Given the description of an element on the screen output the (x, y) to click on. 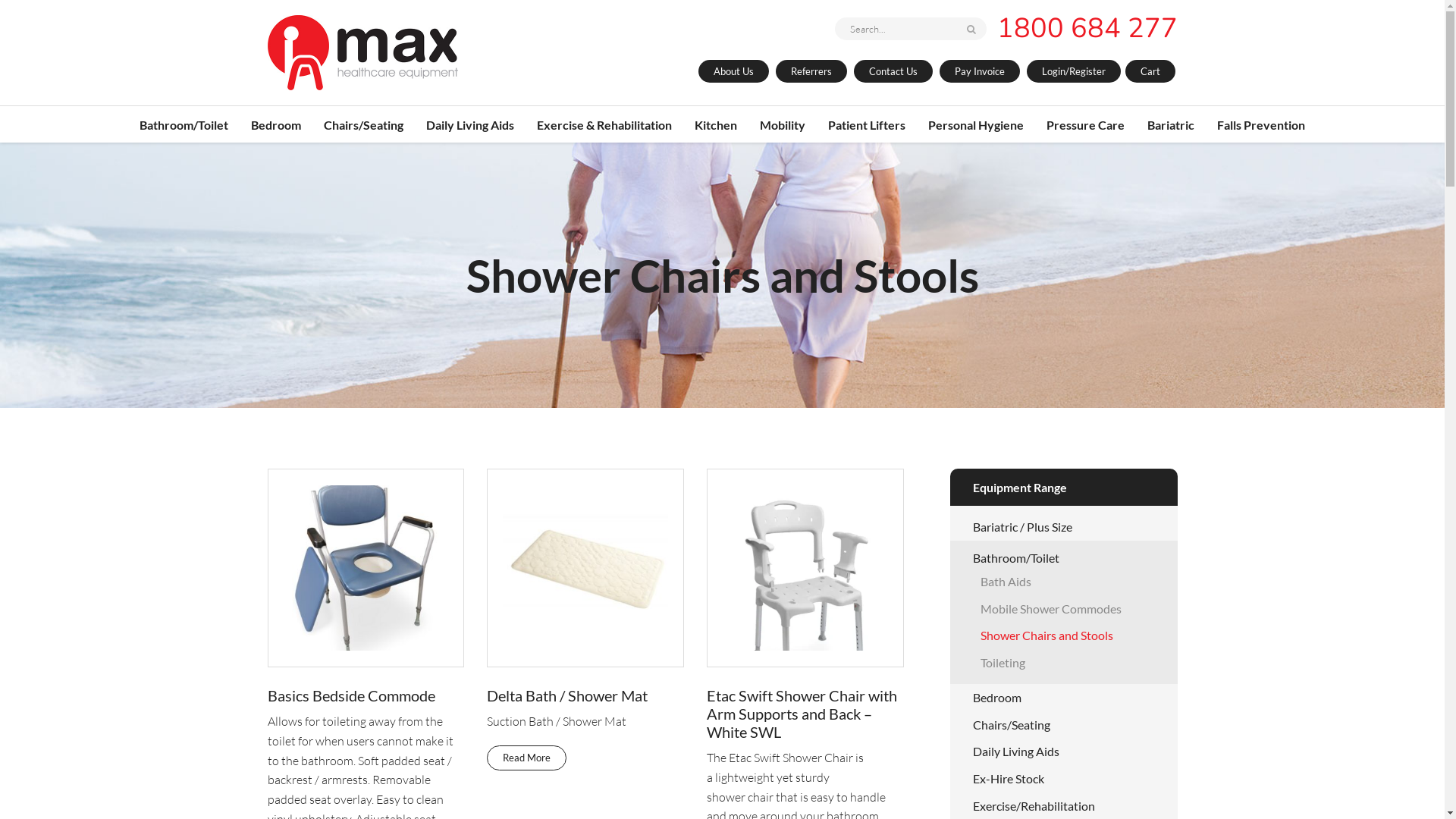
Login/Register Element type: text (1073, 70)
Pressure Care Element type: text (1085, 124)
Bath Aids Element type: text (1004, 581)
Bathroom/Toilet Element type: text (183, 124)
Bathroom/Toilet Element type: text (1015, 557)
Pay Invoice Element type: text (978, 70)
Ex-Hire Stock Element type: text (1007, 778)
1800 684 277 Element type: text (1086, 28)
Exercise/Rehabilitation Element type: text (1033, 805)
Chairs/Seating Element type: text (1010, 724)
Patient Lifters Element type: text (866, 124)
Bedroom Element type: text (276, 124)
Personal Hygiene Element type: text (975, 124)
Read More Element type: text (526, 757)
Daily Living Aids Element type: text (470, 124)
Falls Prevention Element type: text (1261, 124)
Kitchen Element type: text (715, 124)
Bedroom Element type: text (996, 697)
Mobile Shower Commodes Element type: text (1049, 608)
Mobility Element type: text (782, 124)
Toileting Element type: text (1001, 662)
Bariatric Element type: text (1170, 124)
Chairs/Seating Element type: text (363, 124)
Shower Chairs and Stools Element type: text (1045, 634)
Daily Living Aids Element type: text (1015, 750)
Bariatric / Plus Size Element type: text (1021, 526)
Exercise & Rehabilitation Element type: text (603, 124)
Referrers Element type: text (810, 70)
Contact Us Element type: text (892, 70)
Cart Element type: text (1150, 70)
About Us Element type: text (732, 70)
Delta Bath / Shower Mat
Suction Bath / Shower Mat Element type: text (585, 599)
